Given the description of an element on the screen output the (x, y) to click on. 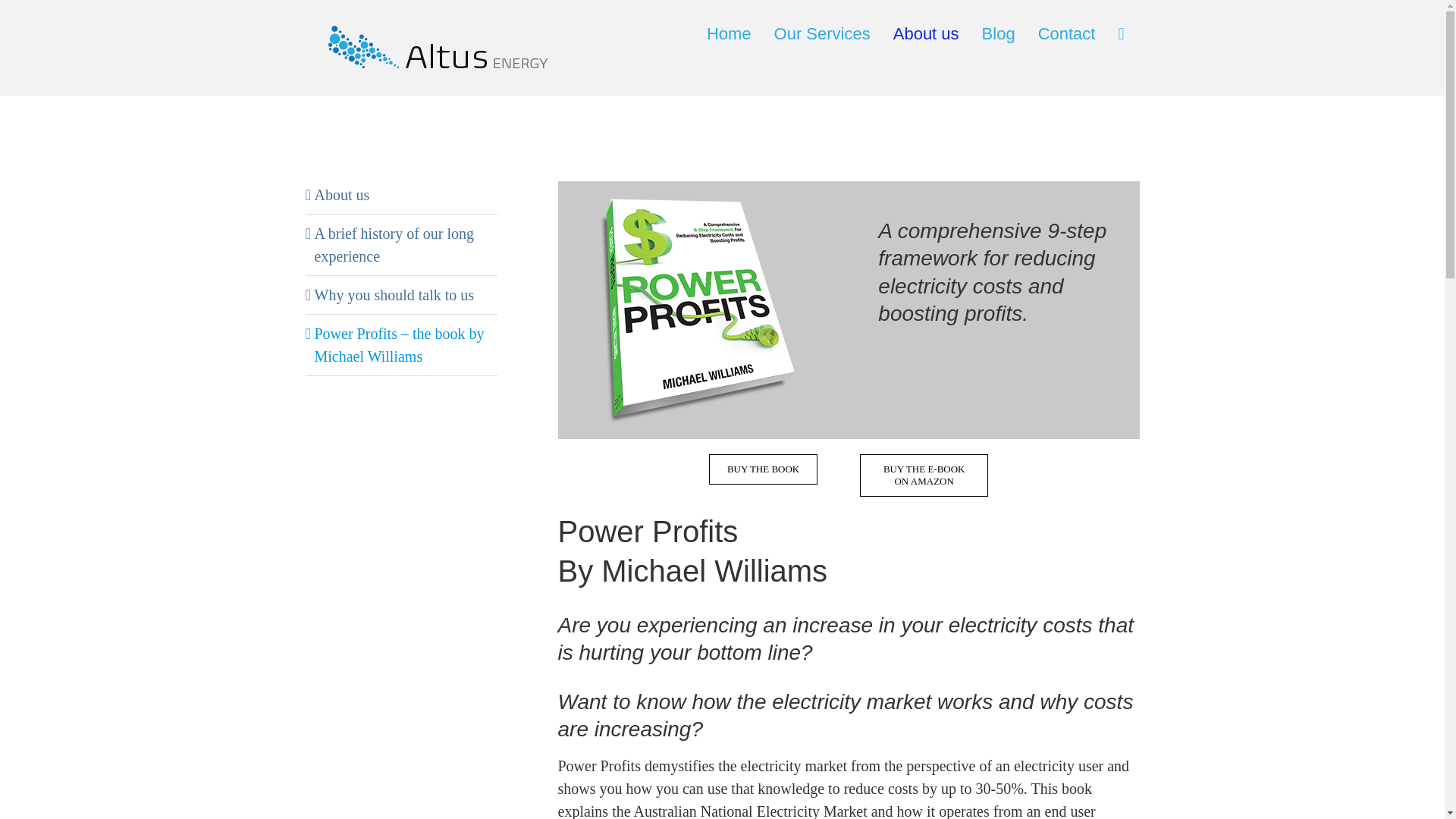
Why you should talk to us (394, 294)
Home (728, 34)
BUY THE BOOK (762, 469)
A brief history of our long experience (394, 244)
About us (926, 34)
Our Services (822, 34)
About us (341, 194)
Contact (1067, 34)
BUY THE E-BOOK ON AMAZON (924, 475)
